Given the description of an element on the screen output the (x, y) to click on. 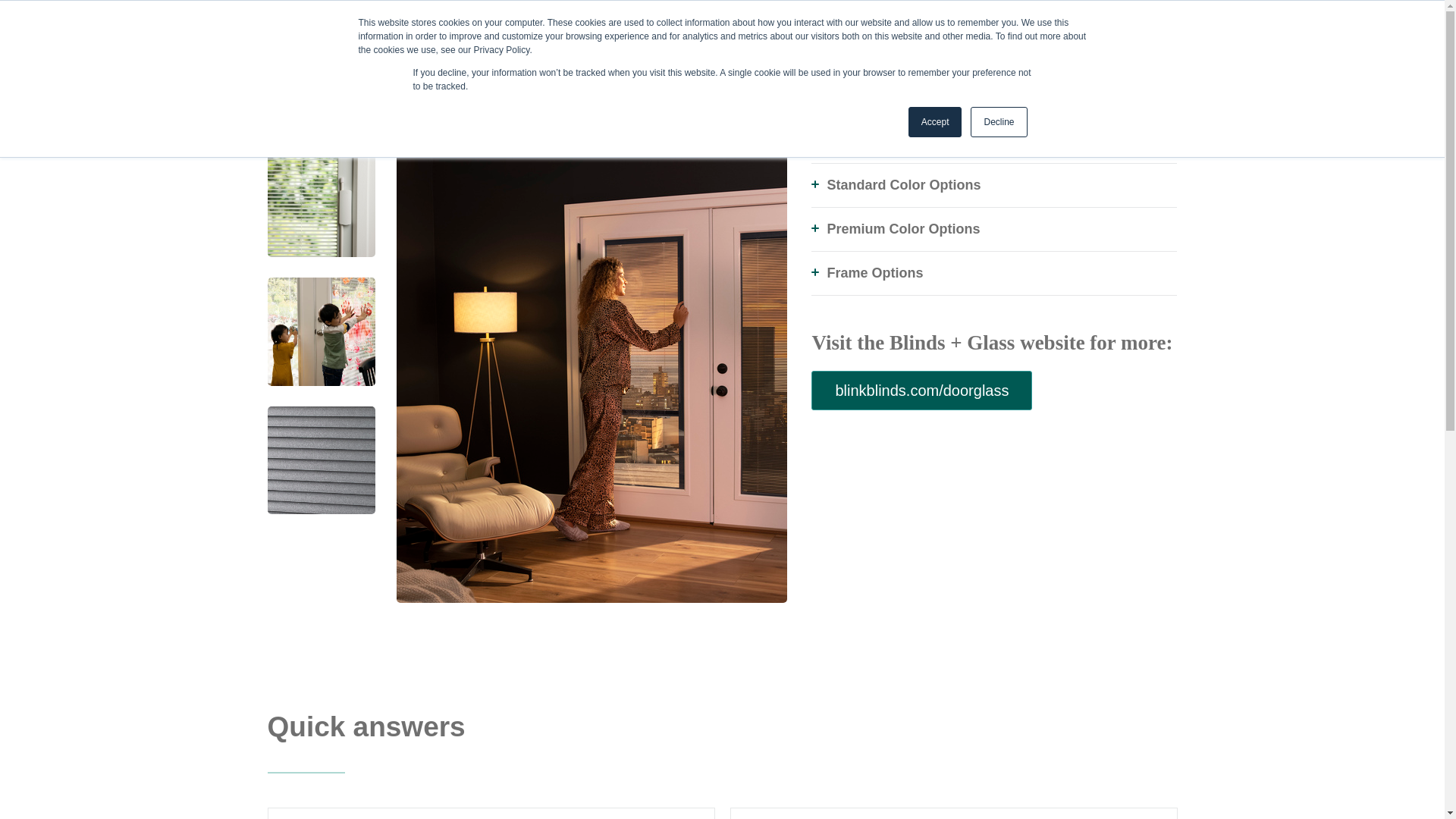
Accept (935, 122)
Contact Us (986, 13)
For Professionals (1128, 13)
ODL-logo-RGB (304, 65)
Inspiration Gallery (890, 64)
About ODL (834, 13)
Product Safety Recall (750, 13)
For Suppliers (1051, 13)
Decline (998, 122)
Products (970, 64)
Resources (1032, 64)
Customer Support (910, 13)
